Given the description of an element on the screen output the (x, y) to click on. 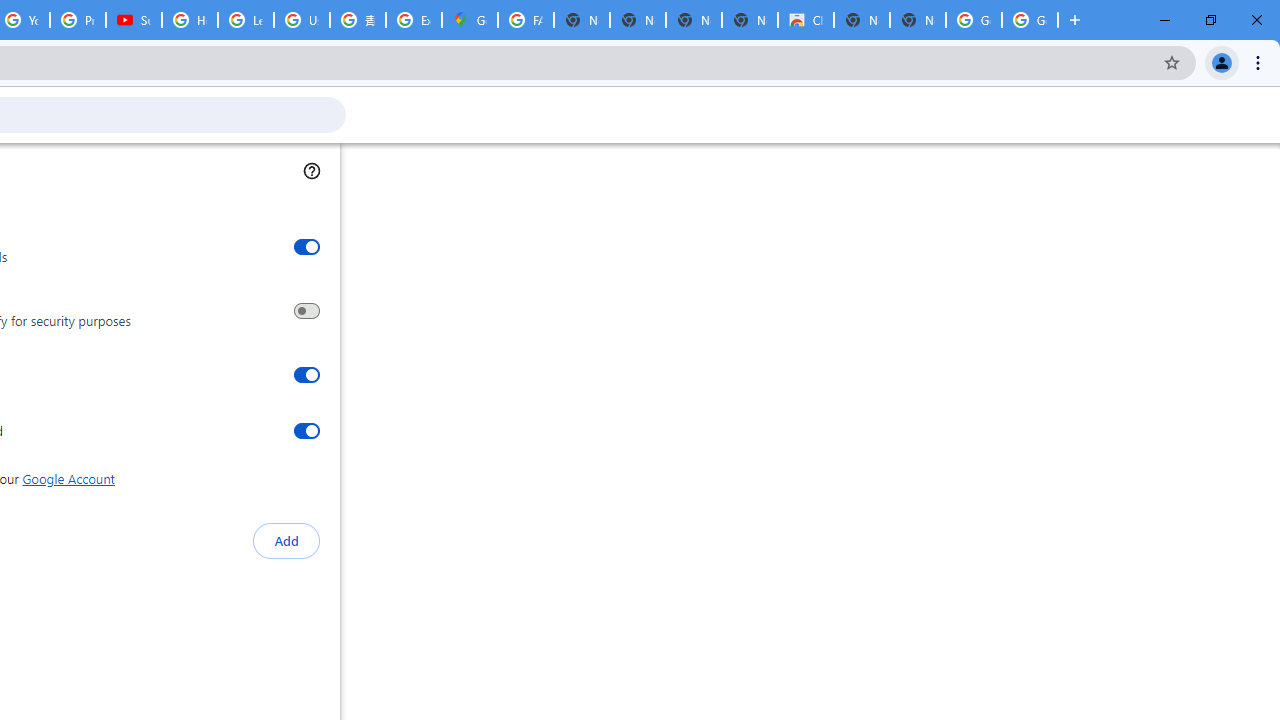
How Chrome protects your passwords - Google Chrome Help (189, 20)
Google Maps (469, 20)
